Given the description of an element on the screen output the (x, y) to click on. 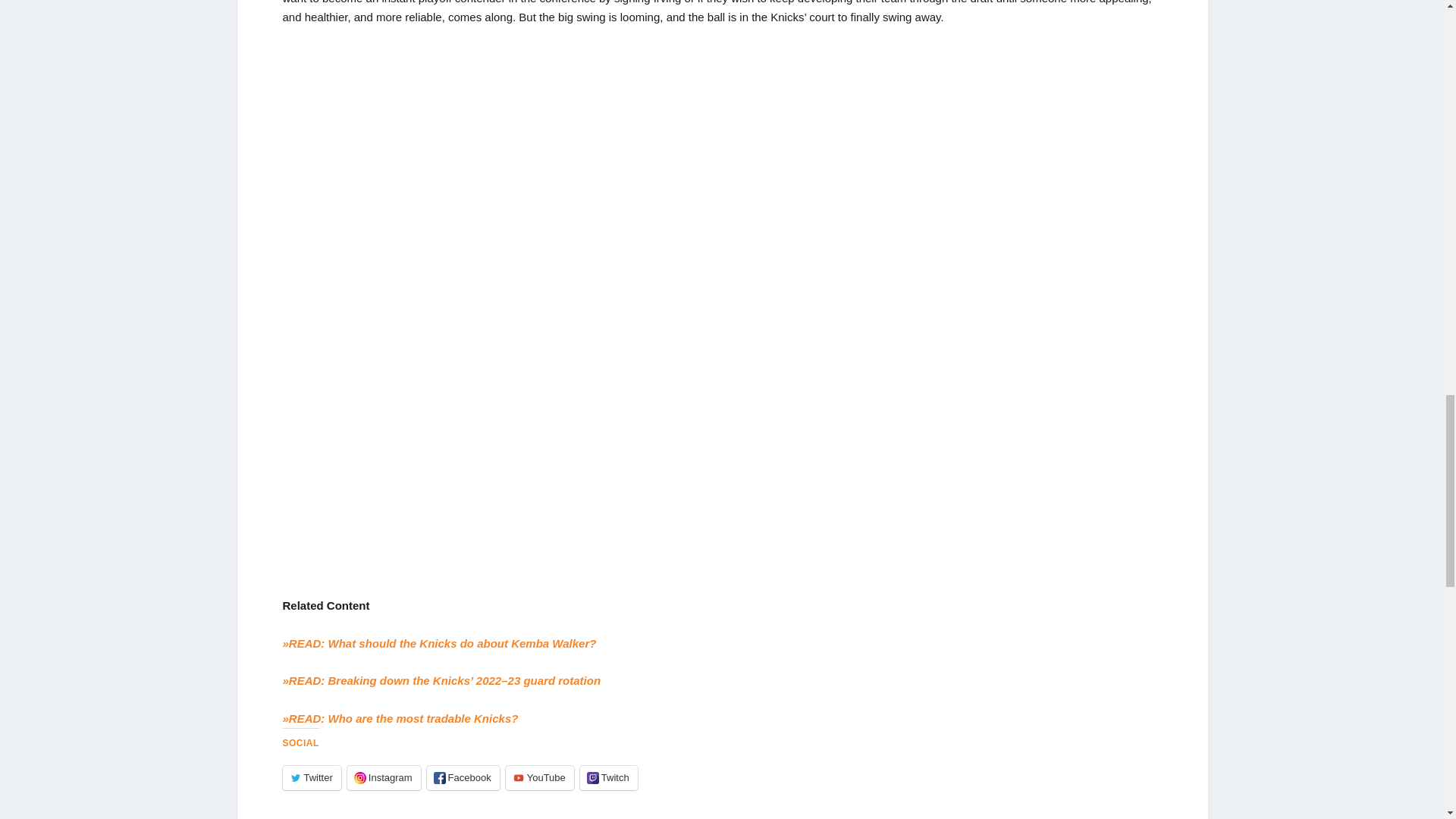
Click to share on Twitter (311, 777)
Click to share on Facebook (462, 777)
Click to share on Instagram (383, 777)
Click to share on YouTube (539, 777)
